Given the description of an element on the screen output the (x, y) to click on. 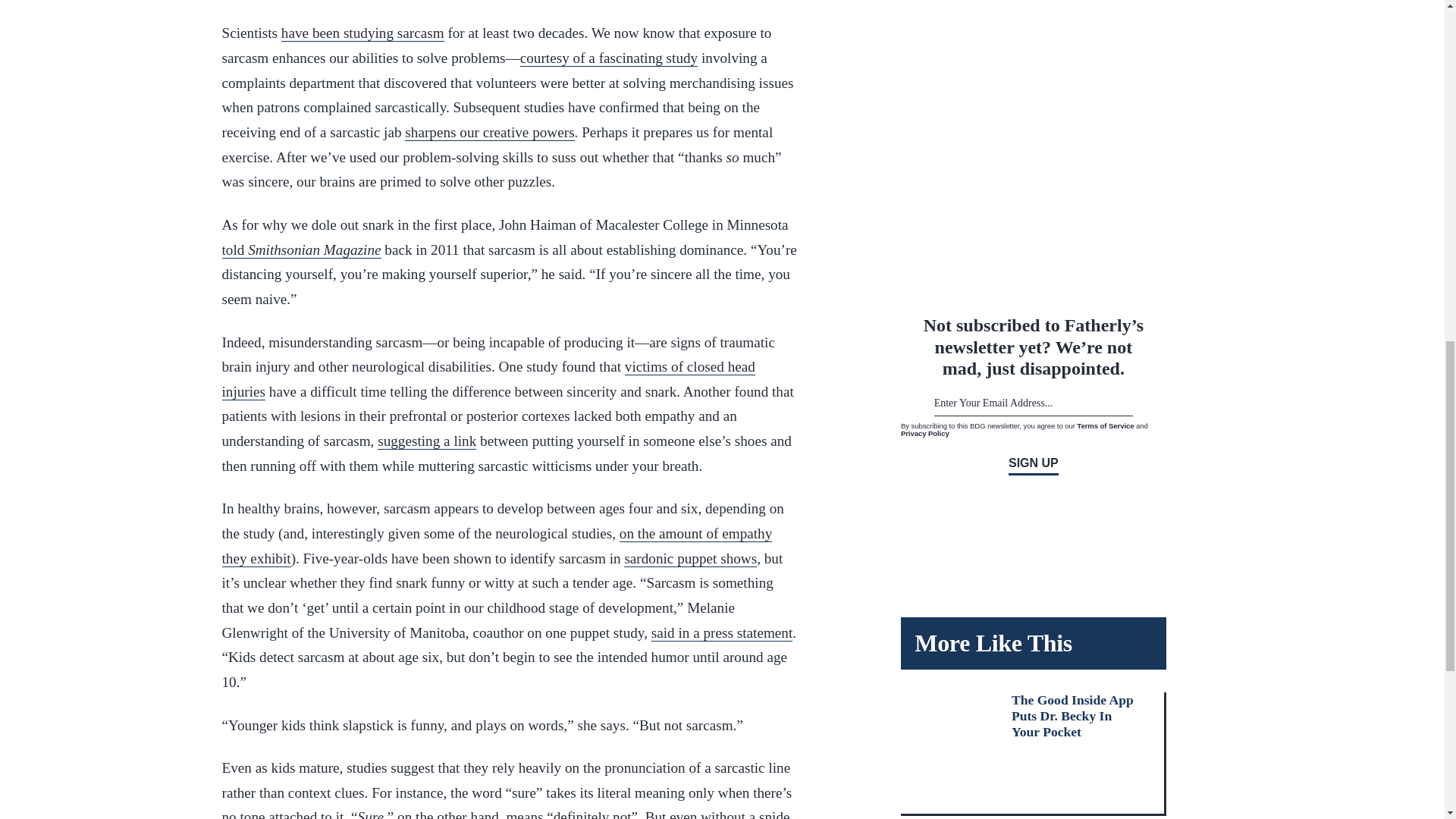
suggesting a link (426, 441)
sharpens our creative powers (488, 132)
SIGN UP (1033, 465)
on the amount of empathy they exhibit (496, 546)
have been studying sarcasm (362, 33)
said in a press statement (721, 632)
sardonic puppet shows (690, 558)
Terms of Service (1105, 425)
victims of closed head injuries (487, 379)
Privacy Policy (925, 433)
